Given the description of an element on the screen output the (x, y) to click on. 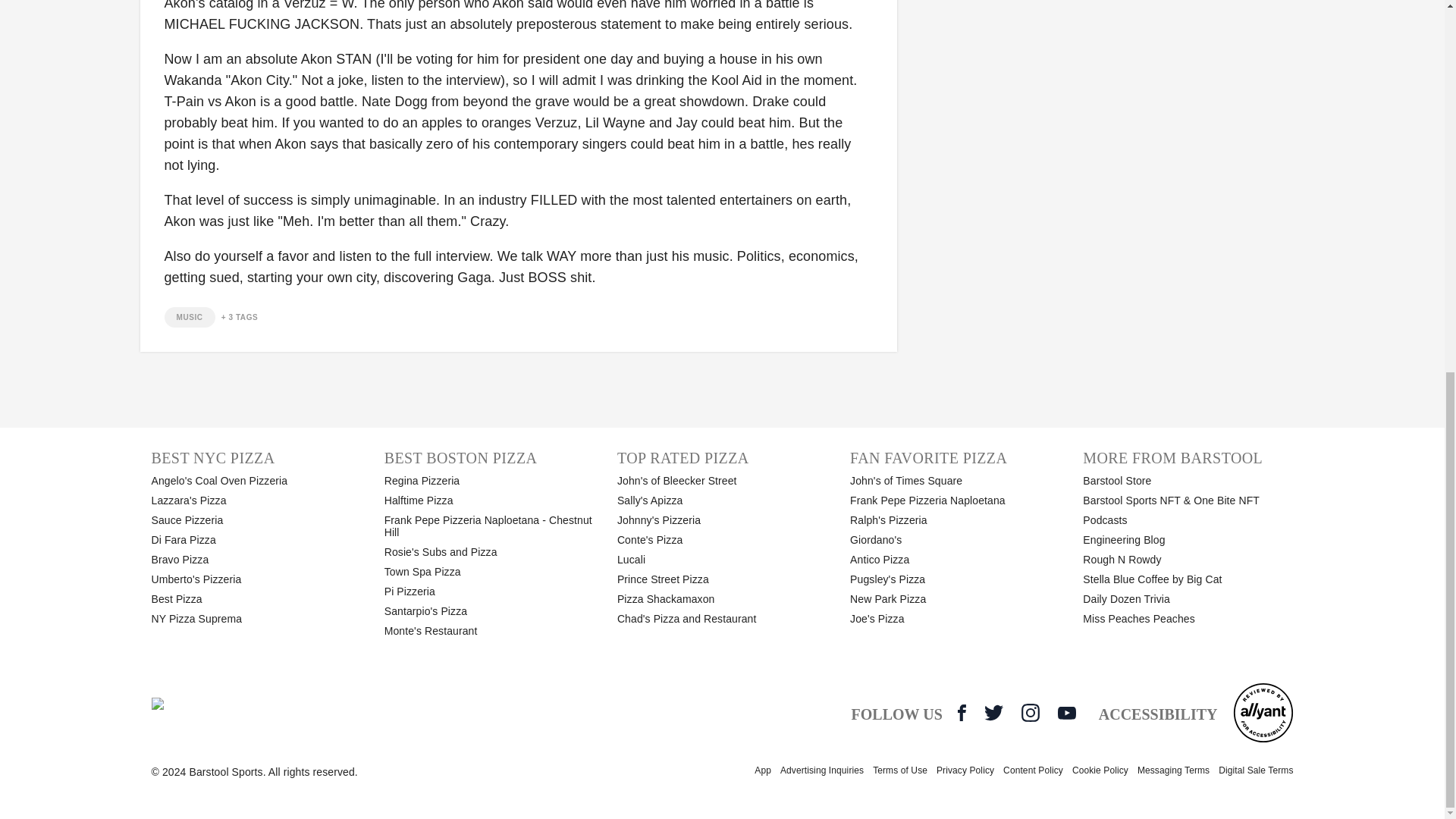
Instagram Icon (1030, 712)
YouTube Icon (1066, 712)
Twitter Icon (993, 712)
Reviewed by Allyant for accessibility (1263, 712)
